Given the description of an element on the screen output the (x, y) to click on. 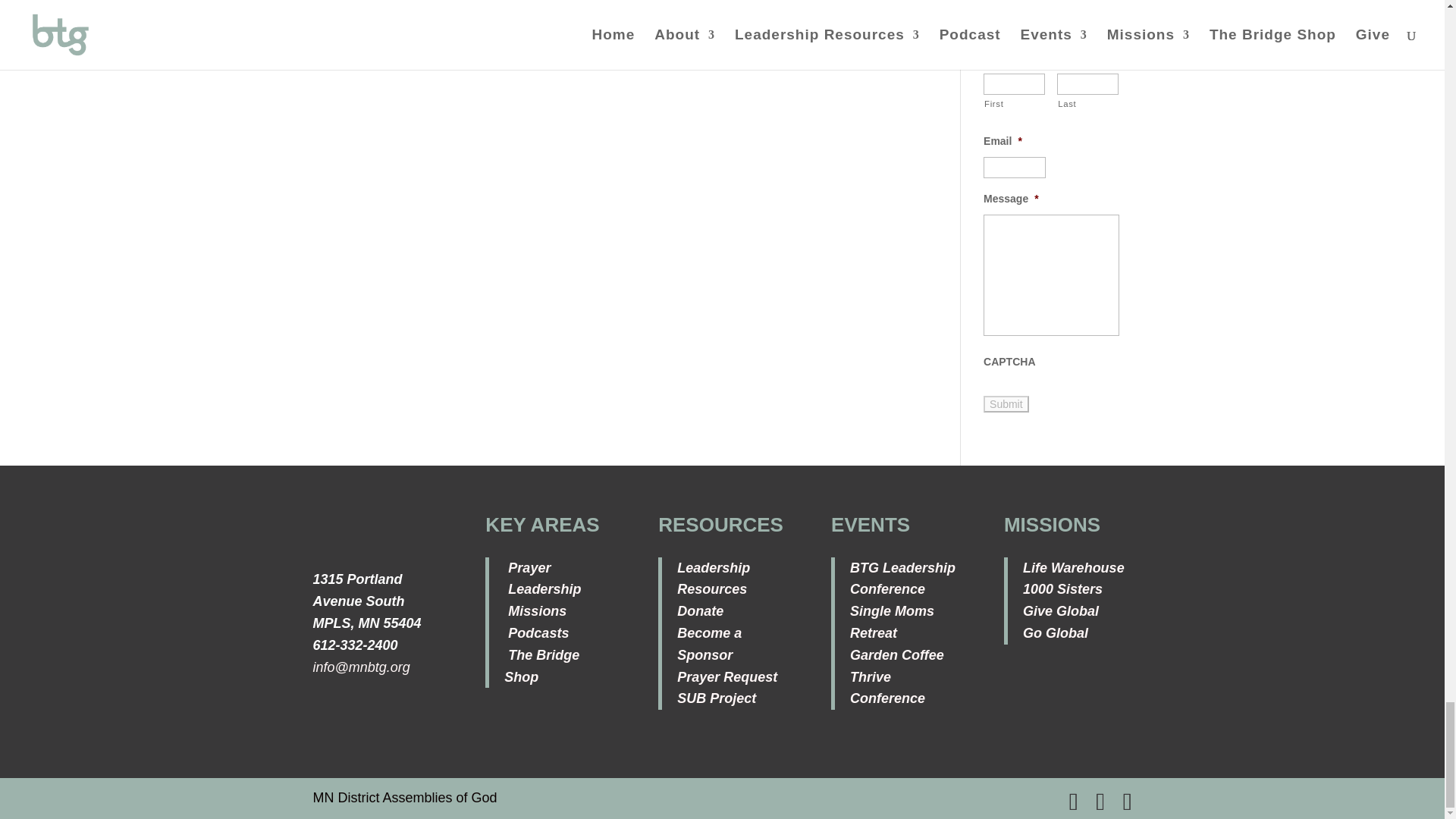
Submit (1006, 403)
